Given the description of an element on the screen output the (x, y) to click on. 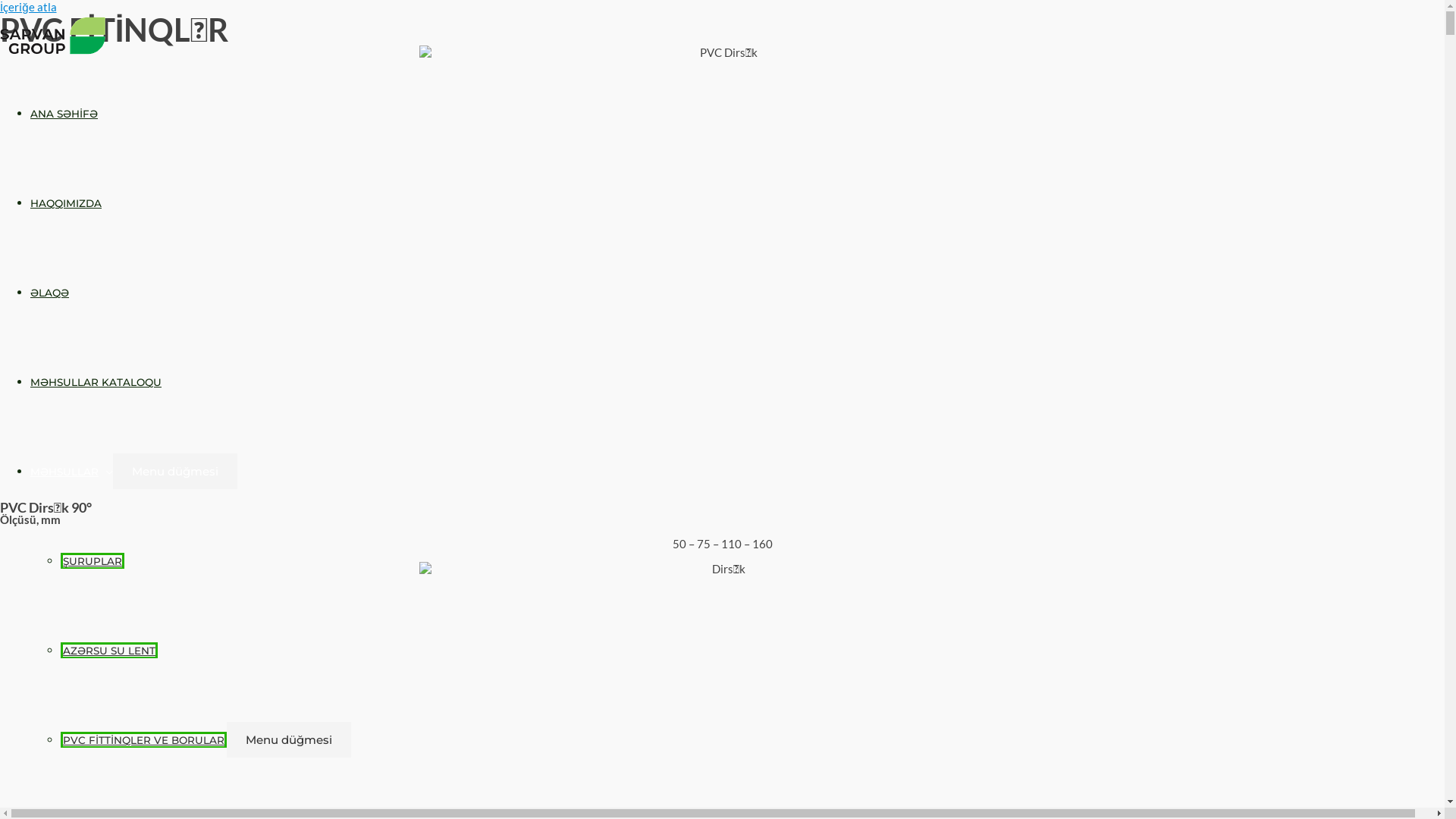
PVC FITTINQLER VE BORULAR Element type: text (143, 739)
HAQQIMIZDA Element type: text (65, 203)
